Given the description of an element on the screen output the (x, y) to click on. 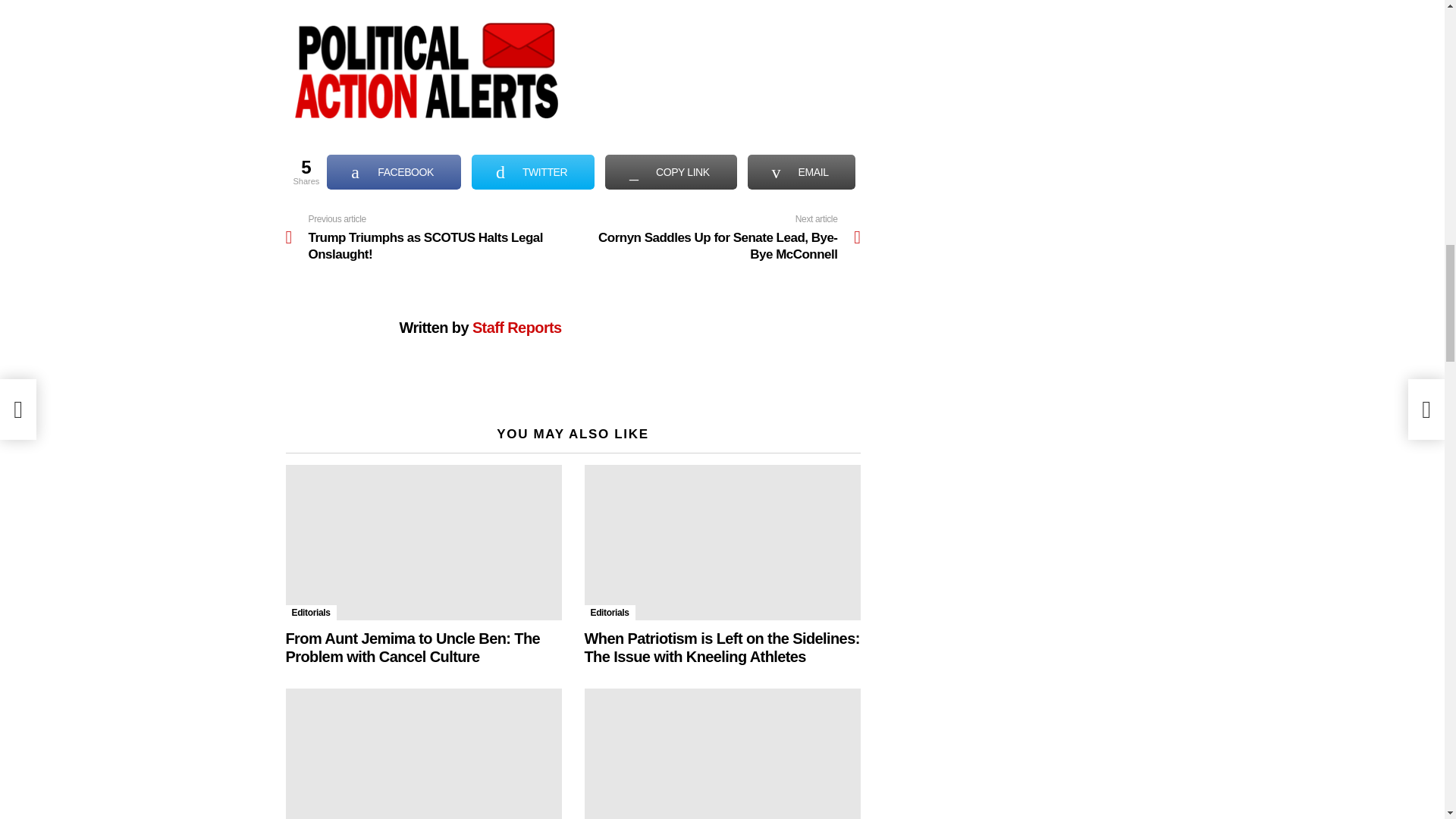
TWITTER (532, 171)
Share on Copy Link (670, 171)
Share on Twitter (532, 171)
FACEBOOK (393, 171)
Share on Facebook (393, 171)
Share on Email (802, 171)
